Given the description of an element on the screen output the (x, y) to click on. 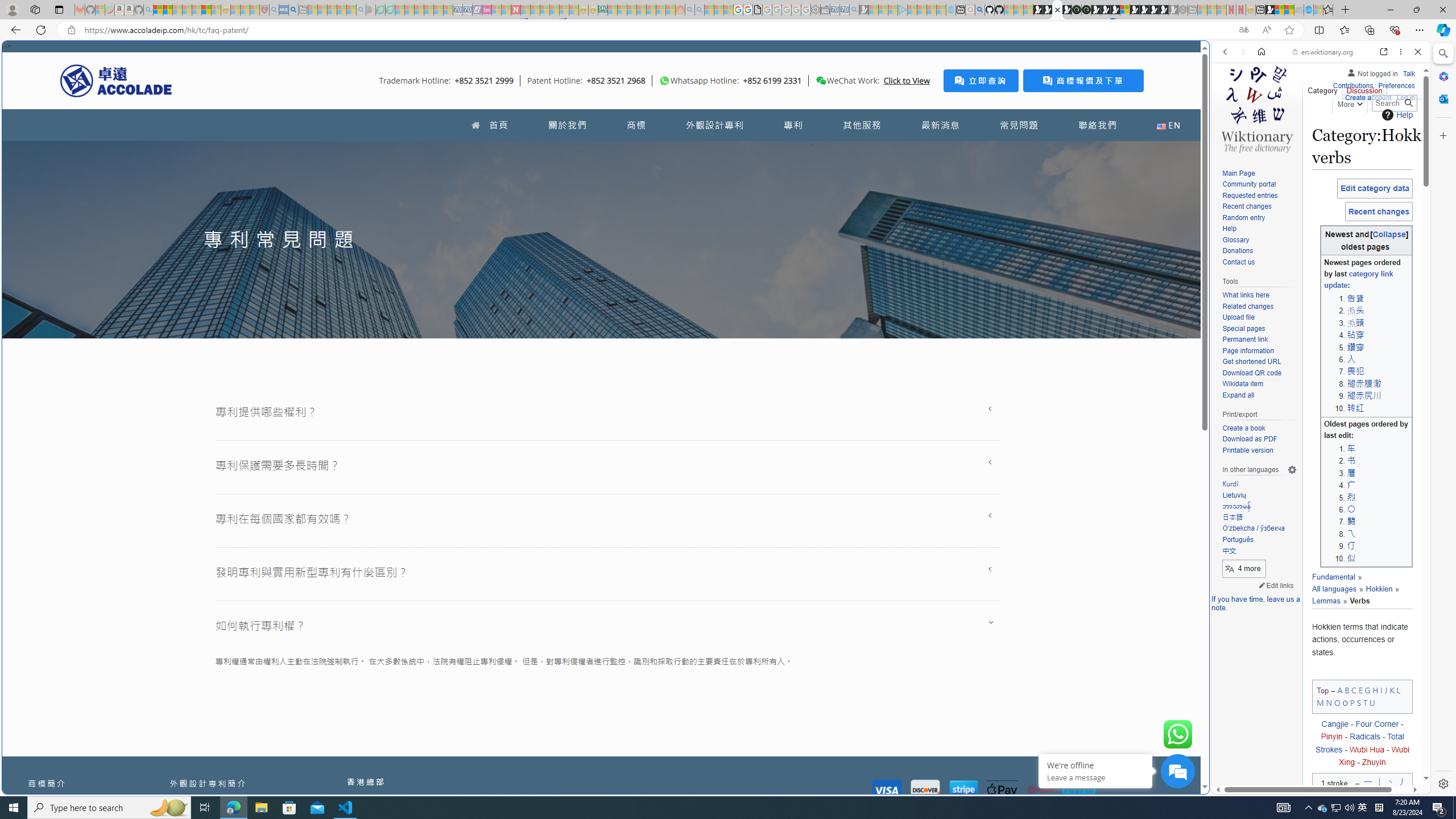
Hokkien (1374, 588)
Frequently visited (965, 151)
All languages (1336, 582)
Fundamental (1333, 576)
